Given the description of an element on the screen output the (x, y) to click on. 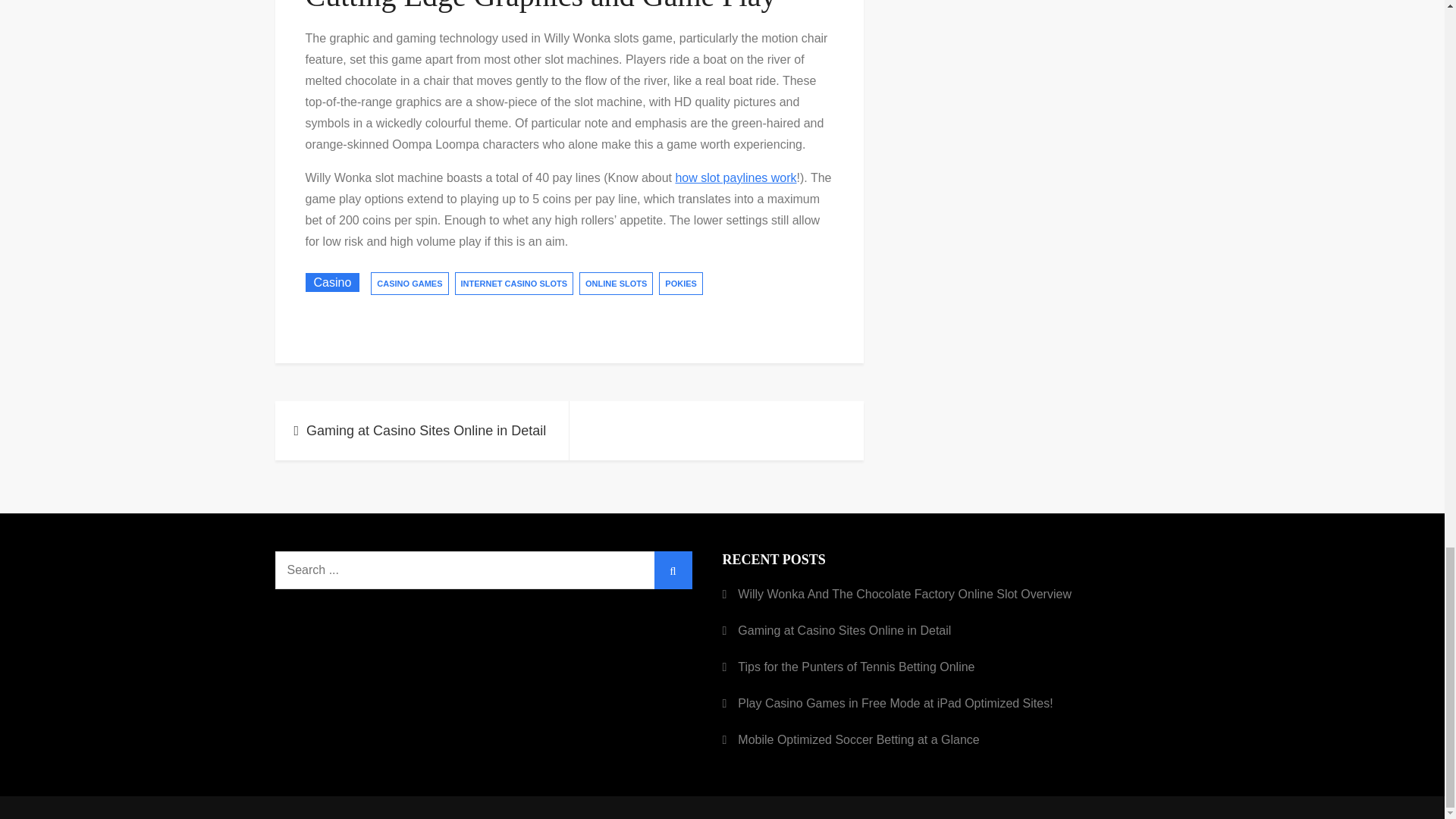
Search for: (483, 569)
Casino (331, 281)
Mobile Optimized Soccer Betting at a Glance (858, 740)
how slot paylines work (735, 177)
INTERNET CASINO SLOTS (513, 282)
ONLINE SLOTS (615, 282)
CASINO GAMES (409, 282)
Search (672, 569)
Gaming at Casino Sites Online in Detail (422, 430)
Gaming at Casino Sites Online in Detail (844, 630)
